Given the description of an element on the screen output the (x, y) to click on. 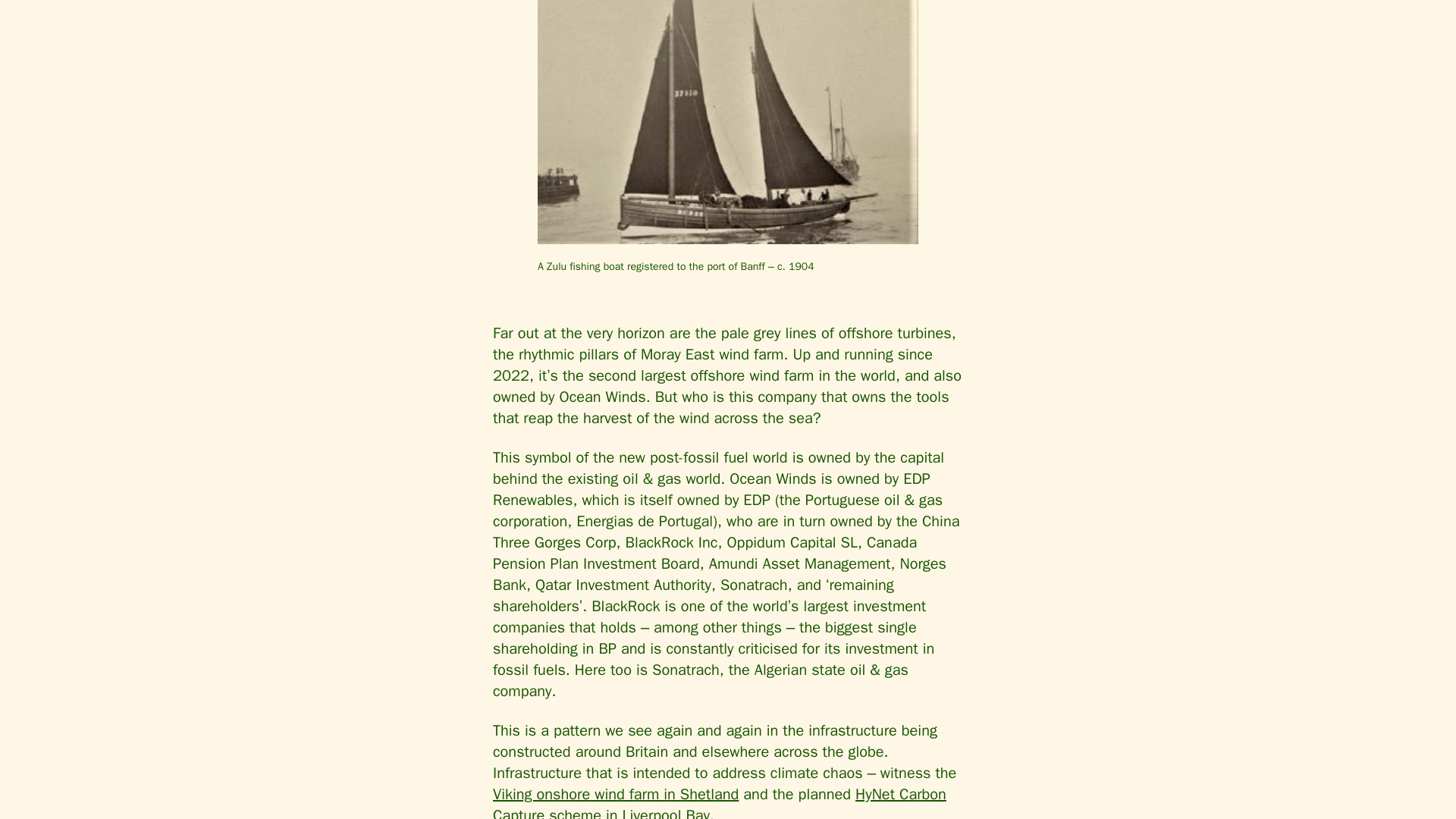
HyNet Carbon Capture scheme in Liverpool Bay. (719, 801)
Viking onshore wind farm in Shetland (615, 793)
